Given the description of an element on the screen output the (x, y) to click on. 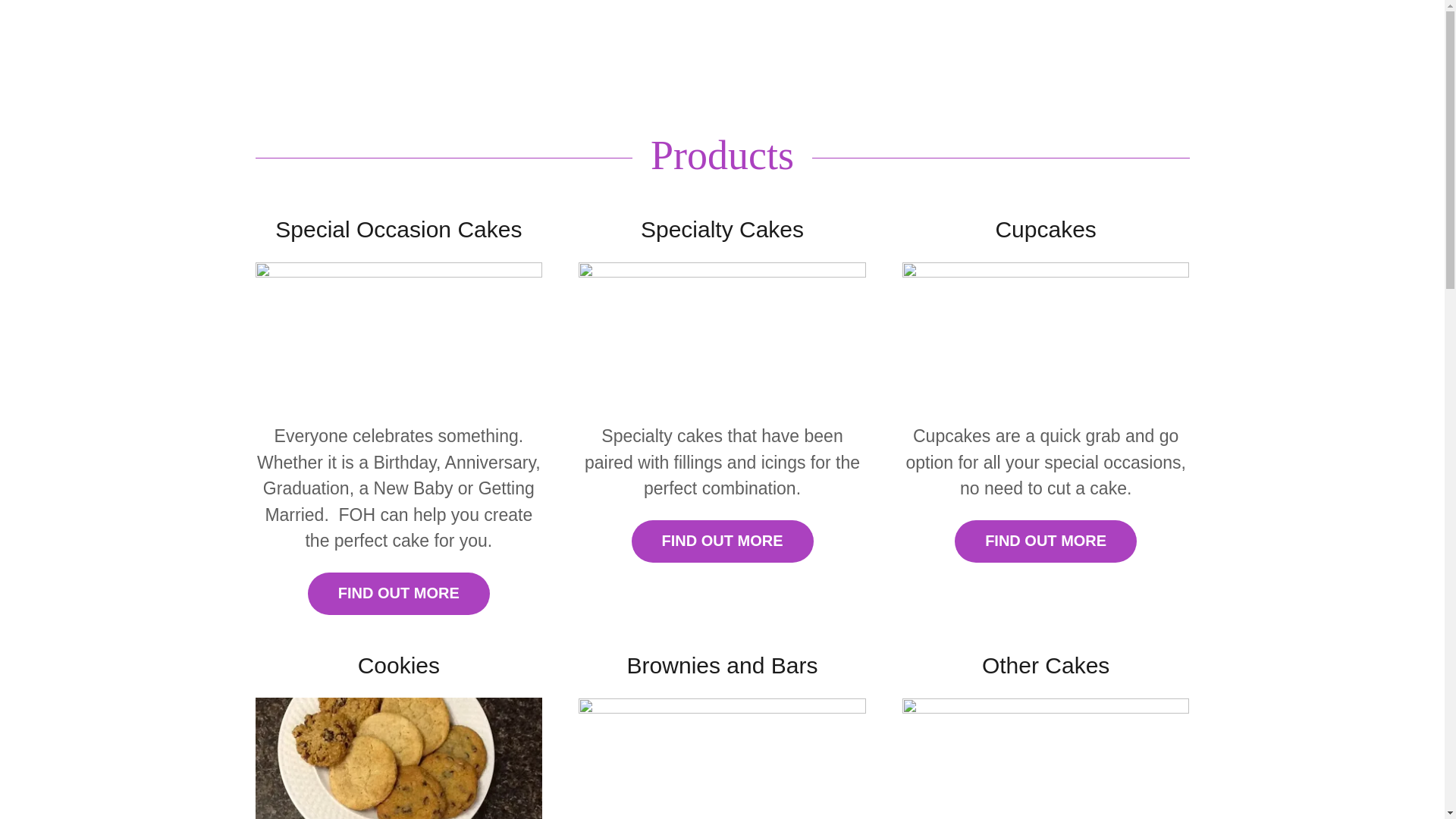
FIND OUT MORE (721, 541)
FIND OUT MORE (398, 593)
FIND OUT MORE (1046, 541)
